Given the description of an element on the screen output the (x, y) to click on. 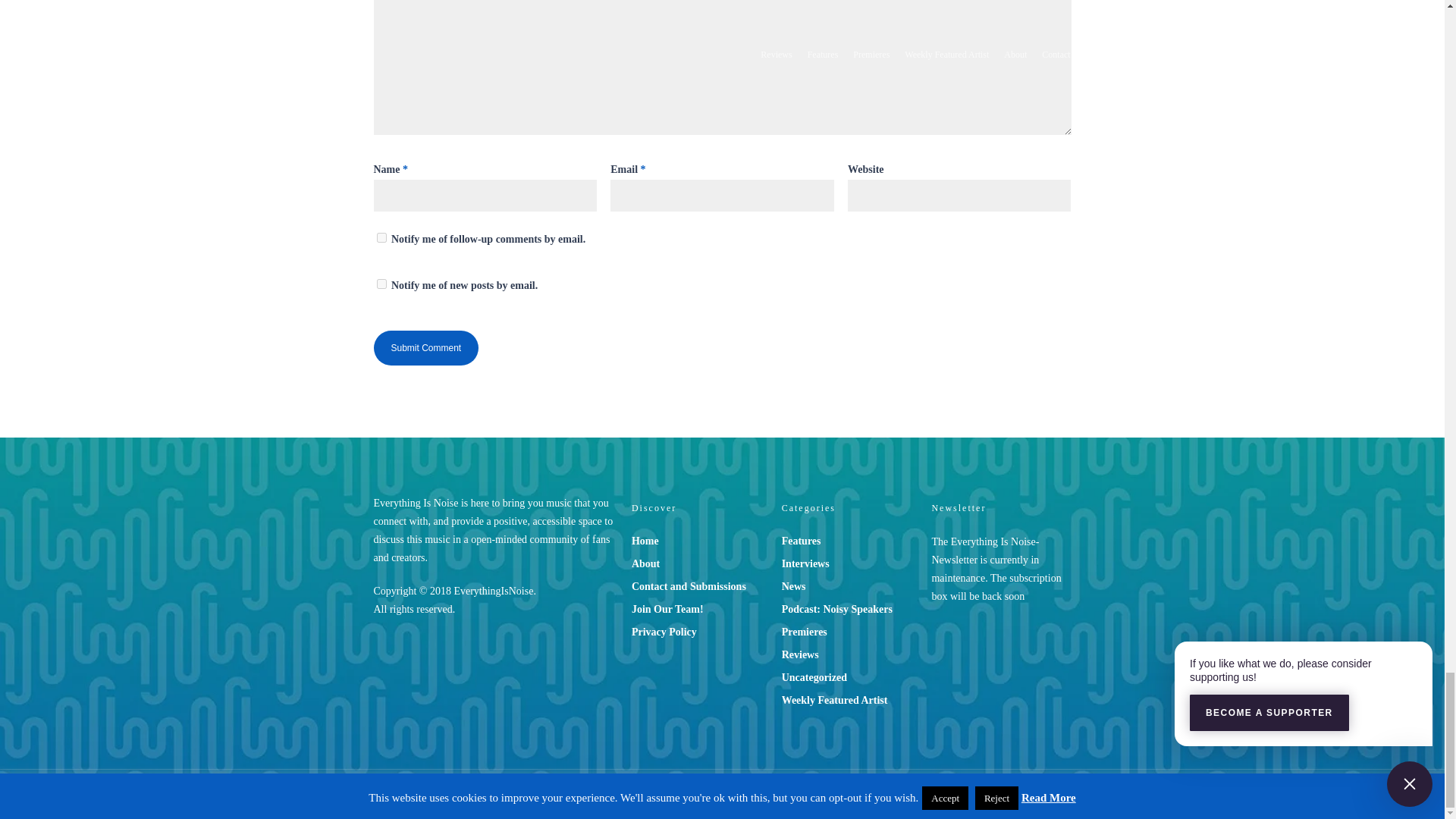
subscribe (380, 237)
Submit Comment (425, 347)
subscribe (380, 284)
